Given the description of an element on the screen output the (x, y) to click on. 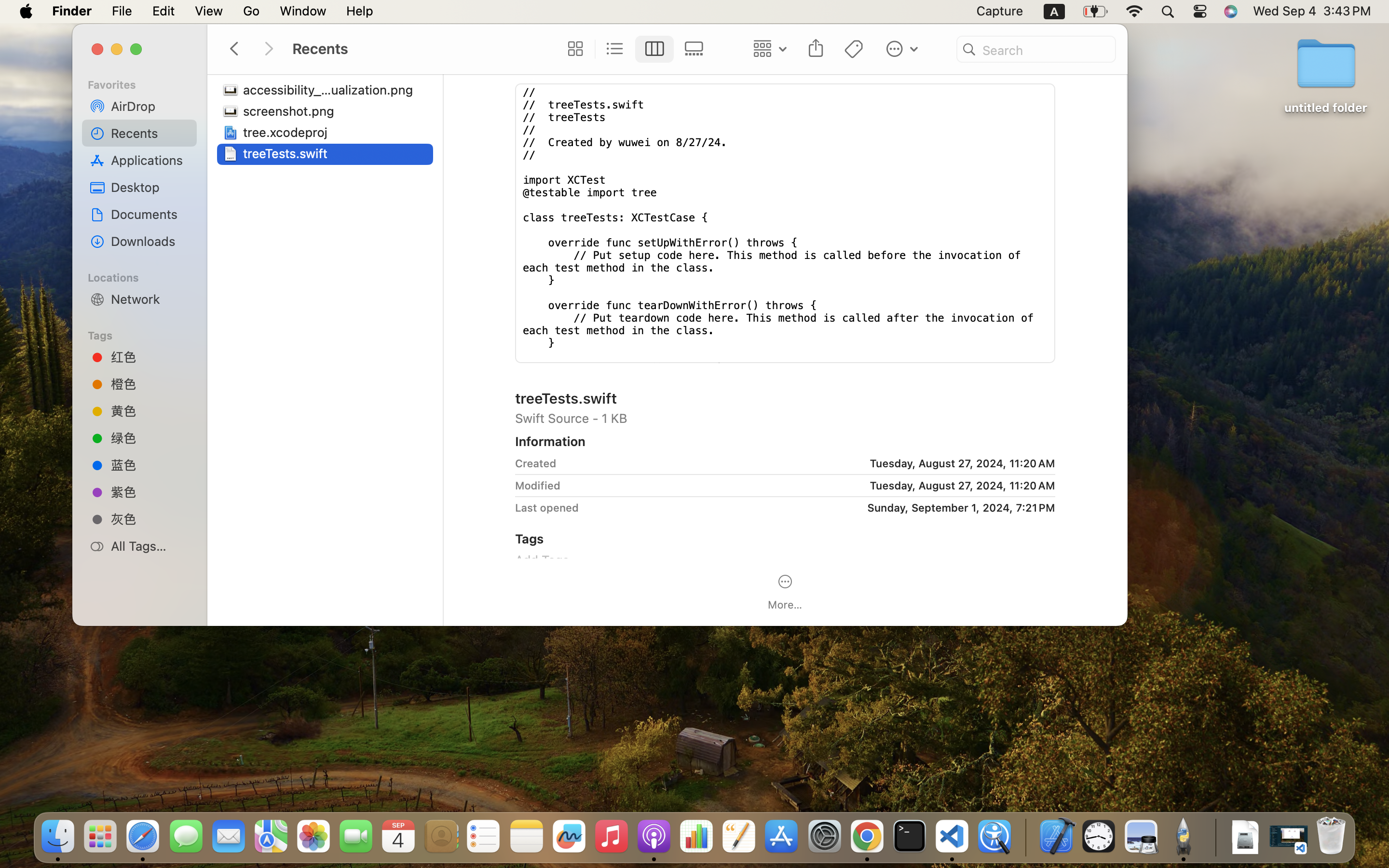
Network Element type: AXStaticText (149, 298)
screenshot.png Element type: AXTextField (290, 110)
treeTests.swift Element type: AXTextField (287, 153)
accessibility_visualization.png Element type: AXTextField (330, 89)
橙色 Element type: AXStaticText (149, 383)
